Given the description of an element on the screen output the (x, y) to click on. 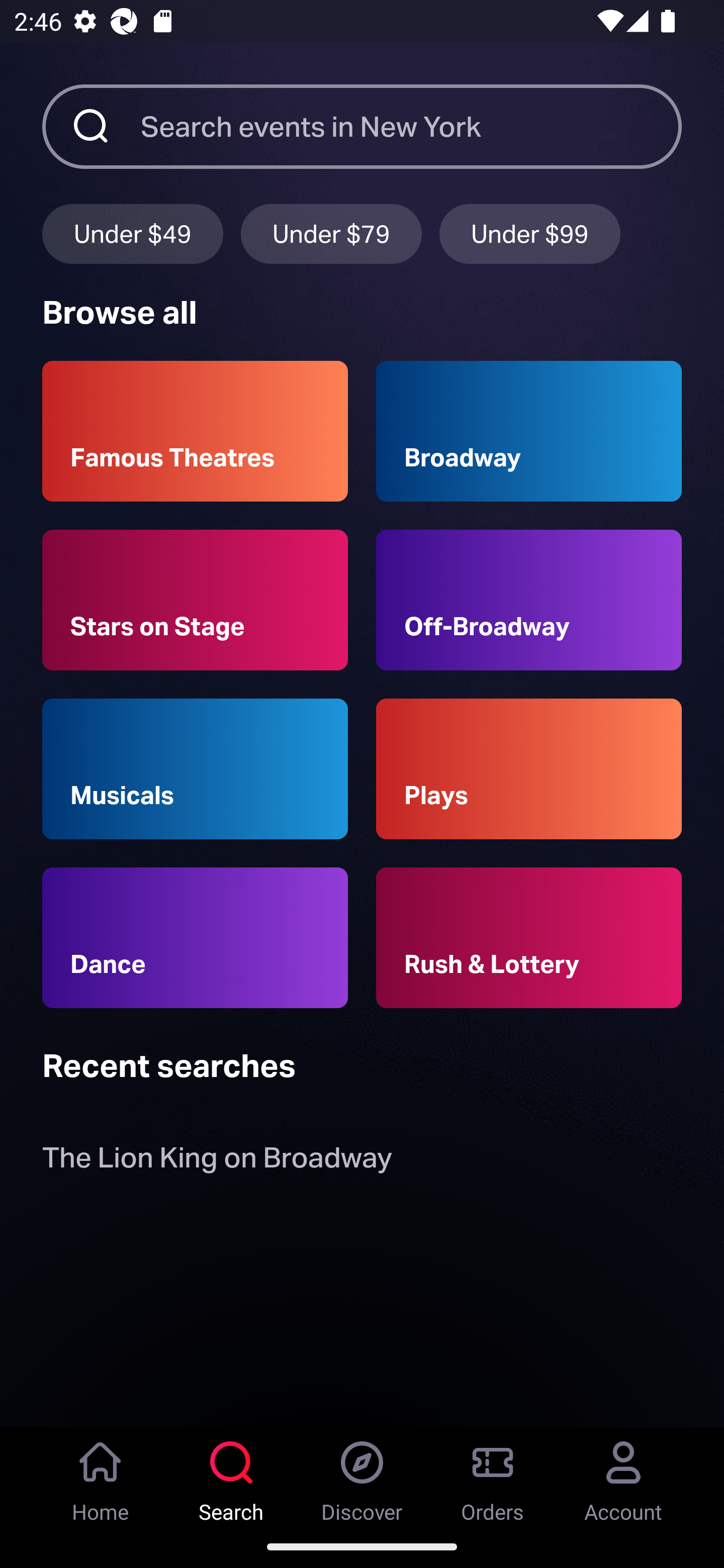
Search events in New York (411, 126)
Under $49 (131, 233)
Under $79 (331, 233)
Under $99 (529, 233)
Famous Theatres (194, 430)
Broadway (528, 430)
Stars on Stage (194, 600)
Off-Broadway (528, 600)
Musicals (194, 768)
Plays (528, 768)
Dance (194, 937)
Rush & Lottery (528, 937)
The Lion King on Broadway (216, 1161)
Home (100, 1475)
Discover (361, 1475)
Orders (492, 1475)
Account (623, 1475)
